Given the description of an element on the screen output the (x, y) to click on. 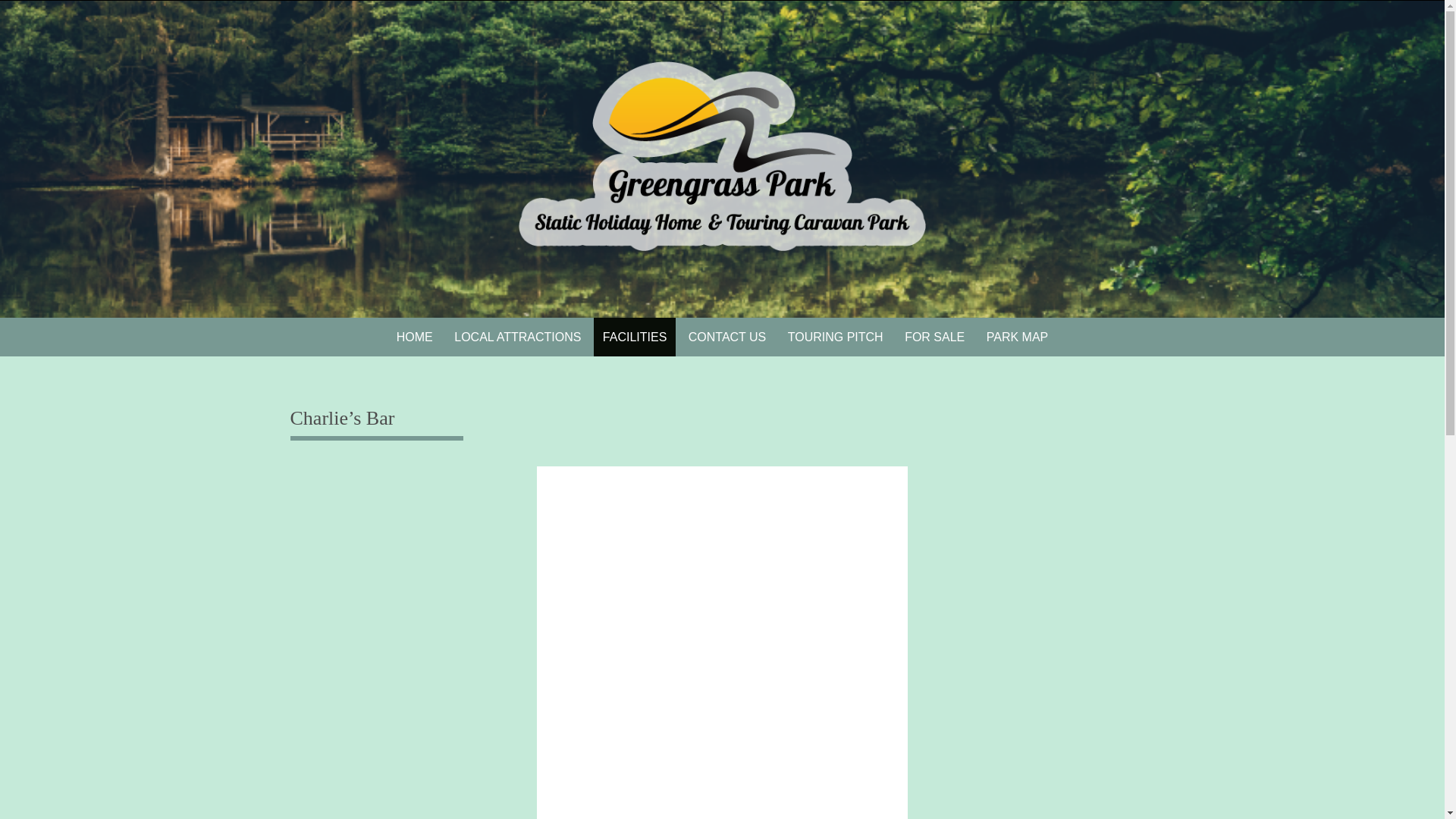
FACILITIES (634, 336)
LOCAL ATTRACTIONS (517, 336)
CONTACT US (727, 336)
FOR SALE (934, 336)
TOURING PITCH (835, 336)
HOME (414, 336)
